Given the description of an element on the screen output the (x, y) to click on. 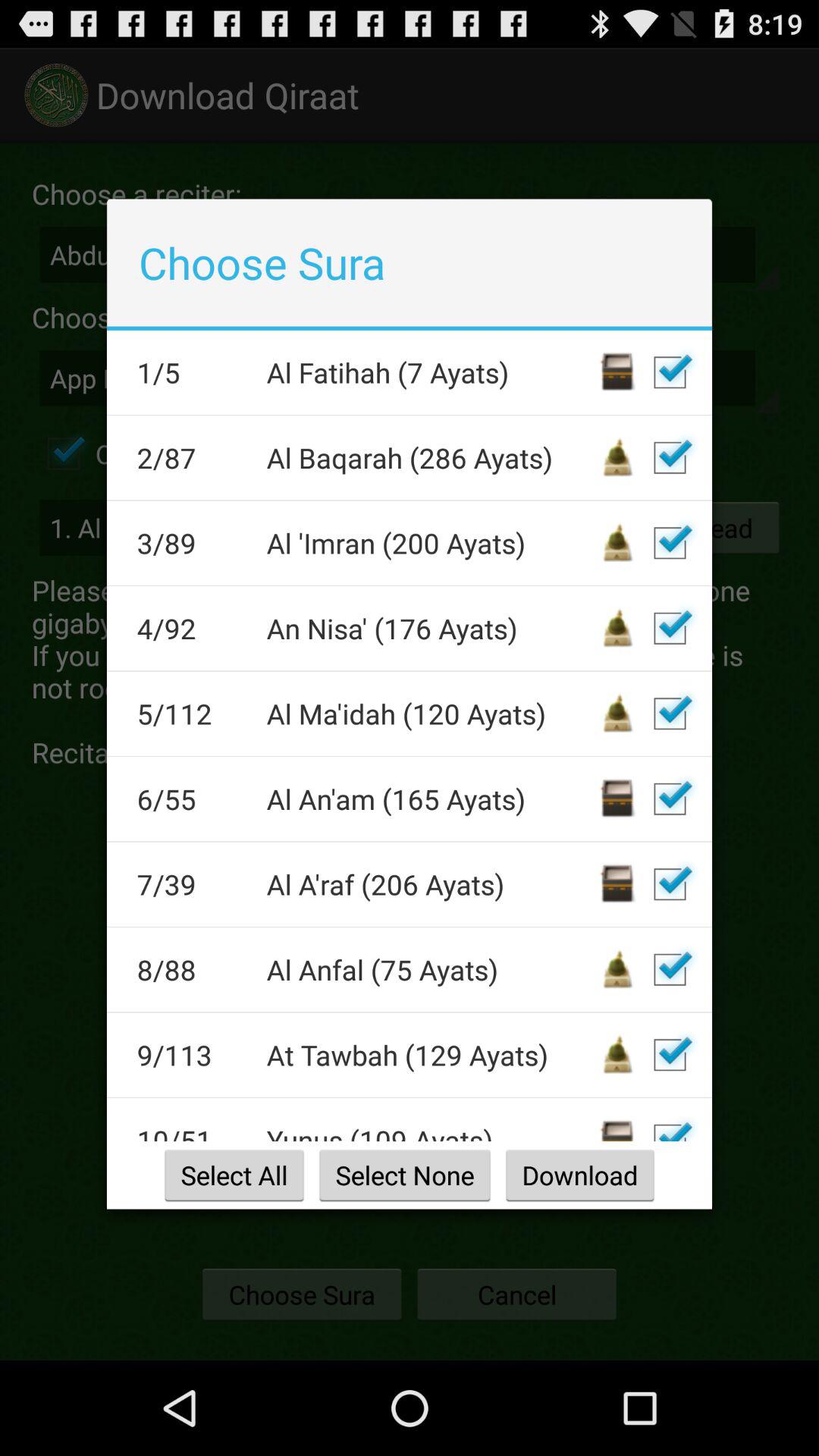
toggle selection (669, 543)
